Given the description of an element on the screen output the (x, y) to click on. 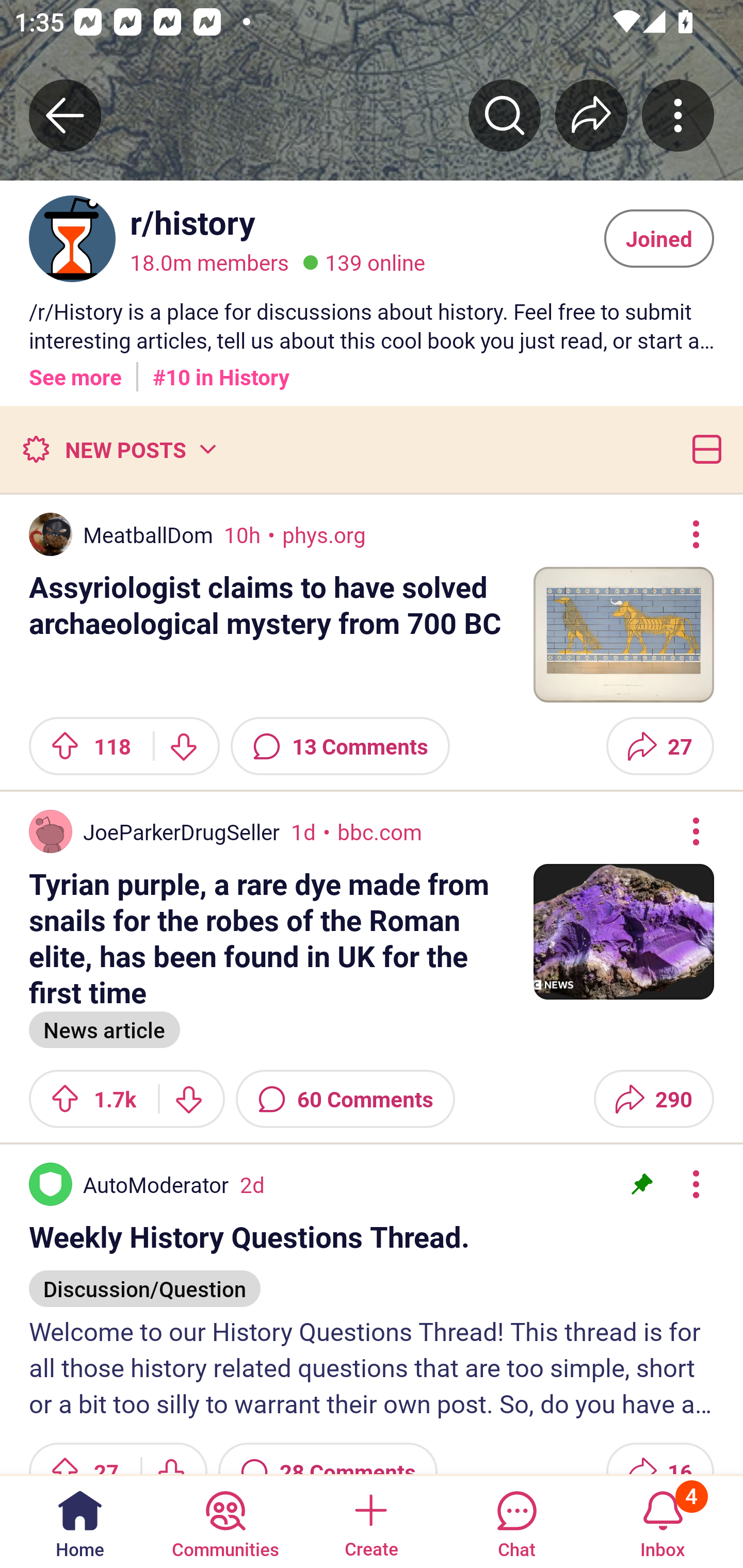
Back (64, 115)
Search r/﻿history (504, 115)
Share r/﻿history (591, 115)
More community actions (677, 115)
New posts NEW POSTS (118, 449)
Card (703, 449)
News article (103, 1027)
Discussion/Question (144, 1278)
Home (80, 1520)
Communities (225, 1520)
Create a post Create (370, 1520)
Chat (516, 1520)
Inbox, has 4 notifications 4 Inbox (662, 1520)
